Given the description of an element on the screen output the (x, y) to click on. 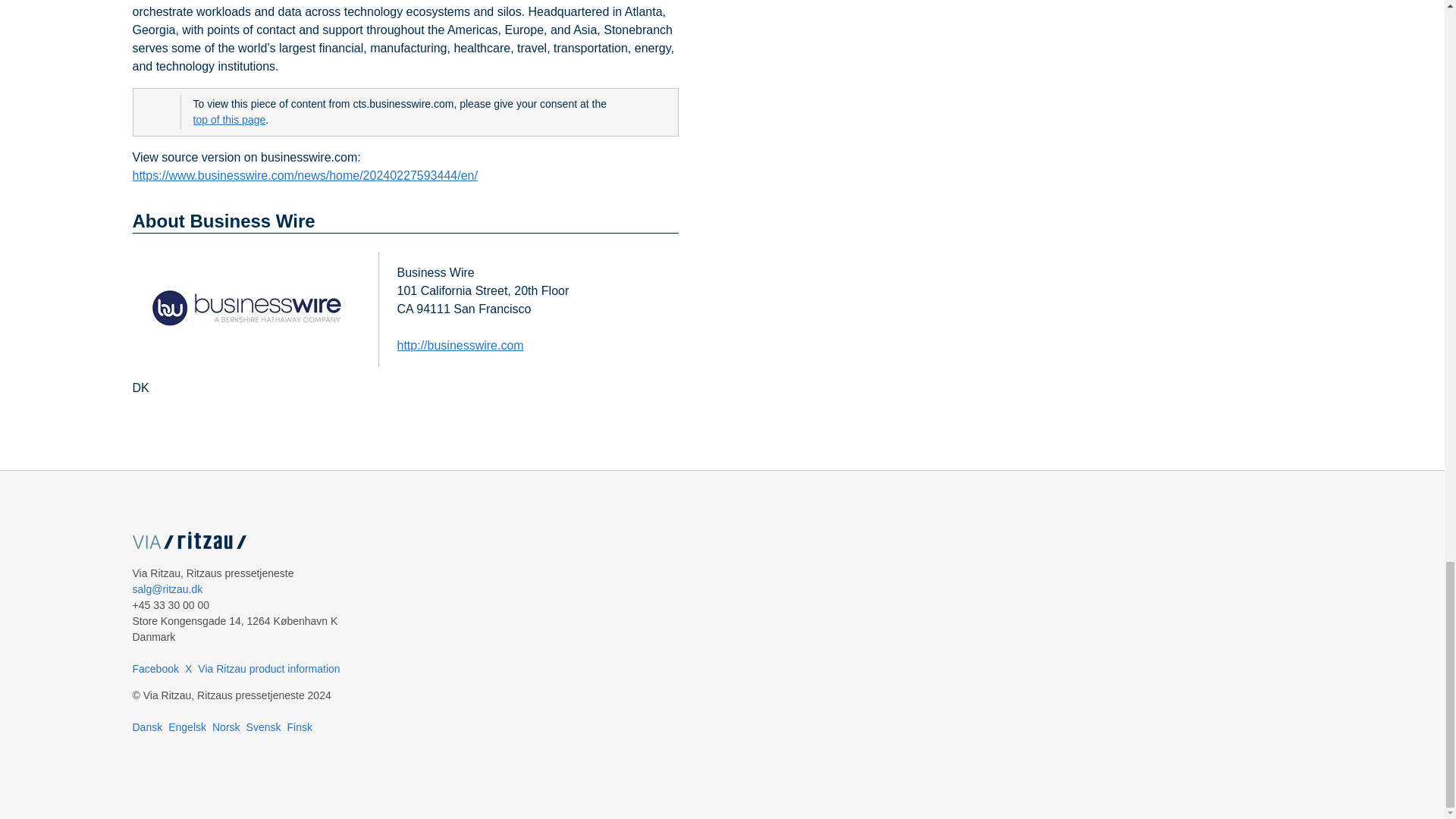
Facebook (154, 668)
Finsk (298, 727)
Engelsk (187, 727)
Dansk (146, 727)
Norsk (226, 727)
Svensk (263, 727)
Via Ritzau product information (268, 668)
top of this page (228, 119)
